Given the description of an element on the screen output the (x, y) to click on. 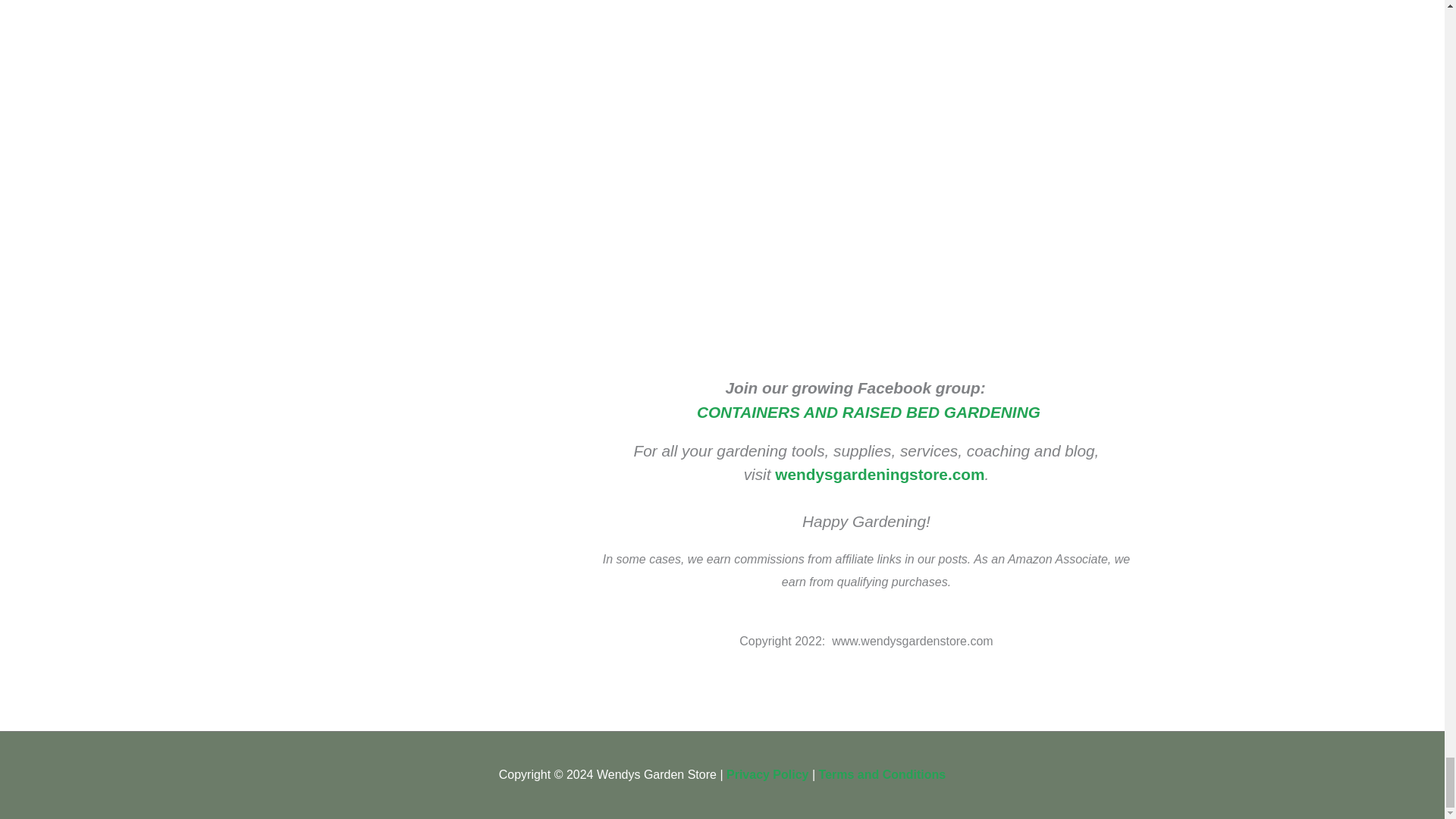
CONTAINERS AND RAISED BED GARDENING (869, 411)
wendysgardeningstore.com (879, 474)
Terms and Conditions (882, 774)
Privacy Policy (767, 774)
